Given the description of an element on the screen output the (x, y) to click on. 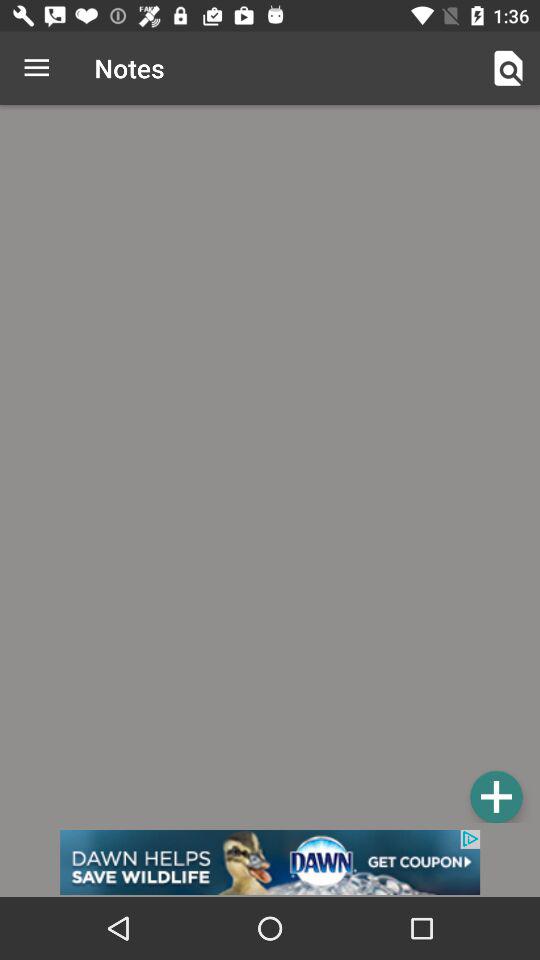
add tool bar (496, 796)
